Given the description of an element on the screen output the (x, y) to click on. 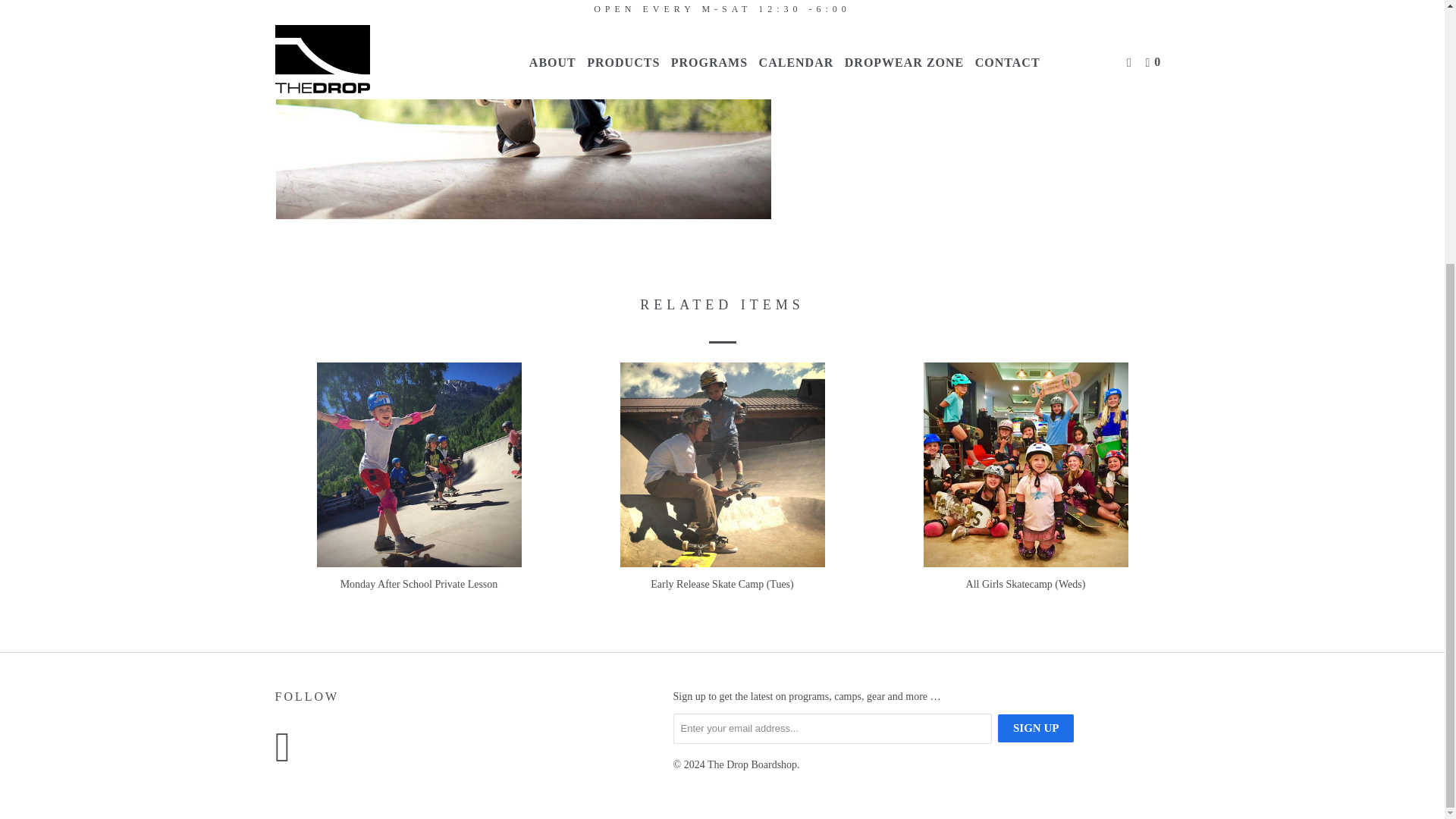
Program (941, 39)
Dads Skatecamp (523, 110)
Products tagged Program (941, 39)
Skateboarding Programs (885, 21)
Sign Up (1035, 728)
Products tagged Online Booking (888, 39)
Program (827, 57)
Program (827, 57)
Skateboarding Programs (885, 21)
Online Booking (888, 39)
Products tagged active (839, 39)
Products tagged skateboarding (991, 39)
The Drop Boardshop on Facebook (286, 747)
skateboarding (991, 39)
active (839, 39)
